Given the description of an element on the screen output the (x, y) to click on. 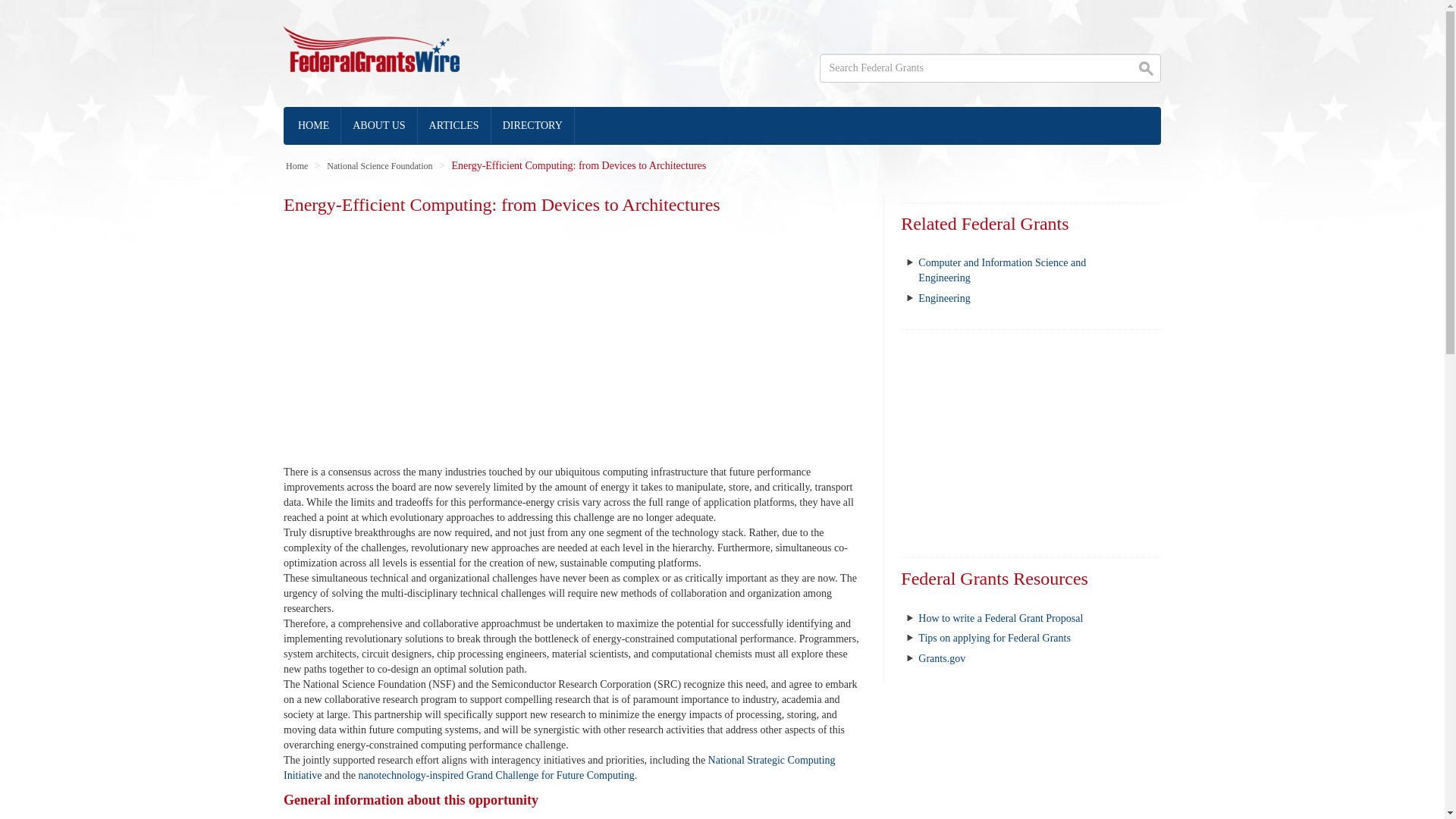
Tips on applying for Federal Grants (994, 637)
National Science Foundation (379, 165)
NSCI (559, 767)
Computer and Information Science and Engineering (1002, 270)
Advertisement (571, 336)
ARTICLES (454, 125)
Engineering (943, 297)
ABOUT US (378, 125)
HOME (313, 125)
How to write a Federal Grant Proposal (1000, 618)
Grants.gov (941, 658)
nanotechnology-inspired Grand Challenge for Future Computing (495, 775)
DIRECTORY (533, 125)
Advertisement (1030, 443)
Home (296, 165)
